Given the description of an element on the screen output the (x, y) to click on. 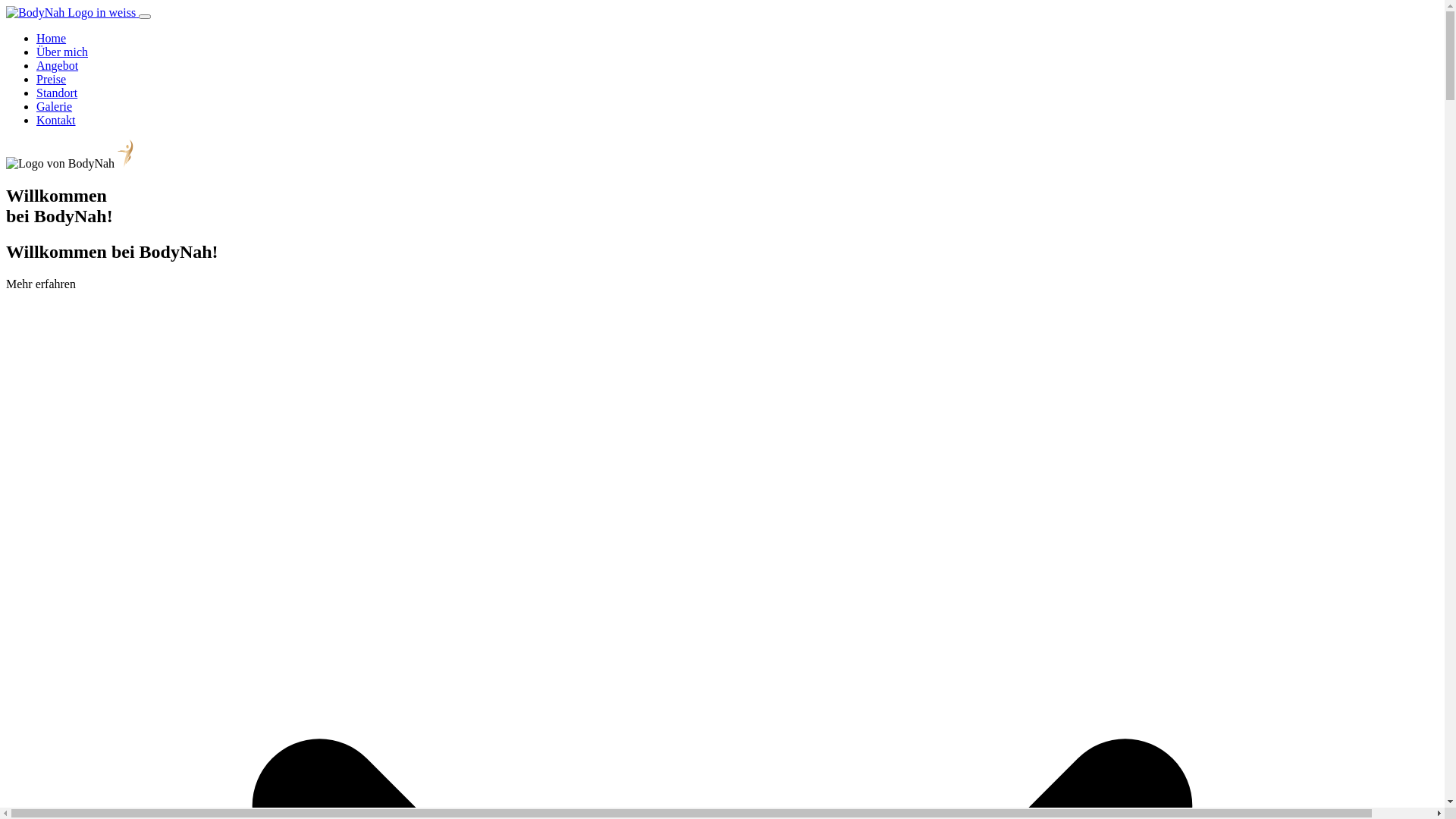
Preise Element type: text (50, 78)
Home Element type: text (50, 37)
Standort Element type: text (56, 92)
Angebot Element type: text (57, 65)
Kontakt Element type: text (55, 119)
Mehr erfahren Element type: text (40, 283)
Galerie Element type: text (54, 106)
